Given the description of an element on the screen output the (x, y) to click on. 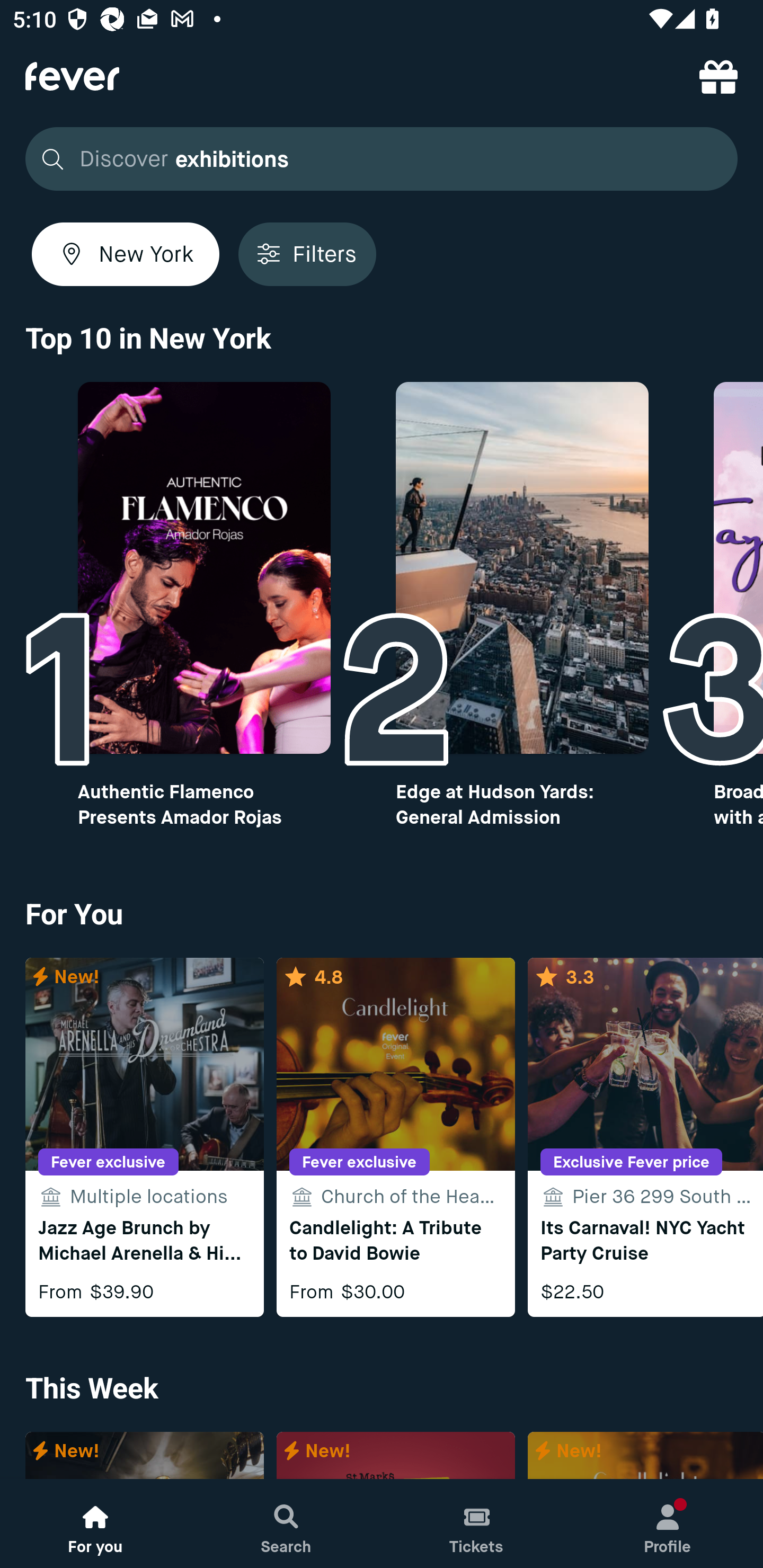
referral (718, 75)
Discover exhibitions (381, 158)
Discover exhibitions (376, 158)
New York (125, 253)
Filters (307, 253)
Top10 image (203, 568)
Top10 image (521, 568)
Search (285, 1523)
Tickets (476, 1523)
Profile, New notification Profile (667, 1523)
